Given the description of an element on the screen output the (x, y) to click on. 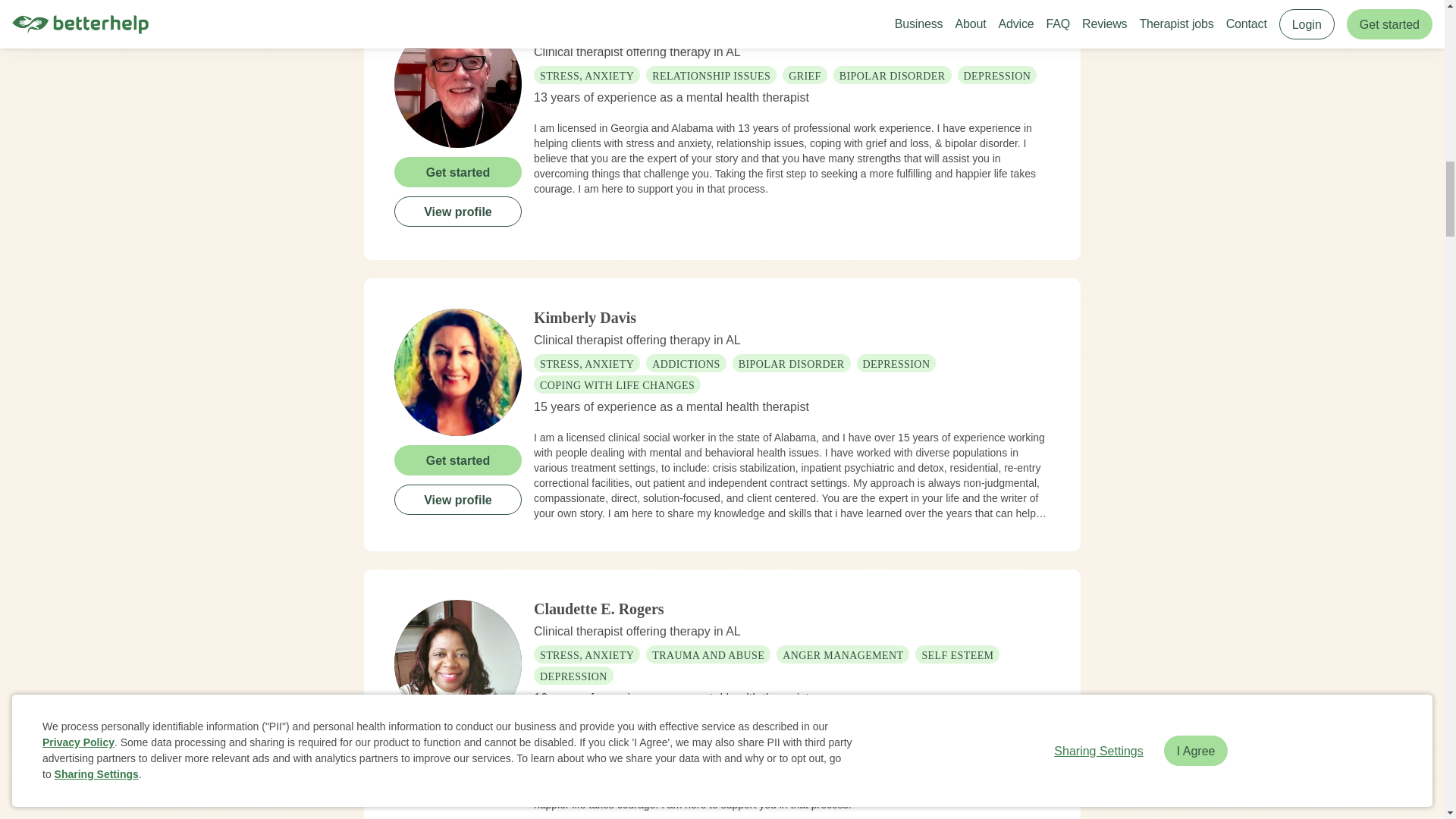
View profile (457, 499)
View profile (457, 210)
Get started (457, 750)
Get started (457, 171)
Get started (457, 459)
Click here to view Frank Busbey's profile 1 (457, 83)
View profile (457, 789)
